Given the description of an element on the screen output the (x, y) to click on. 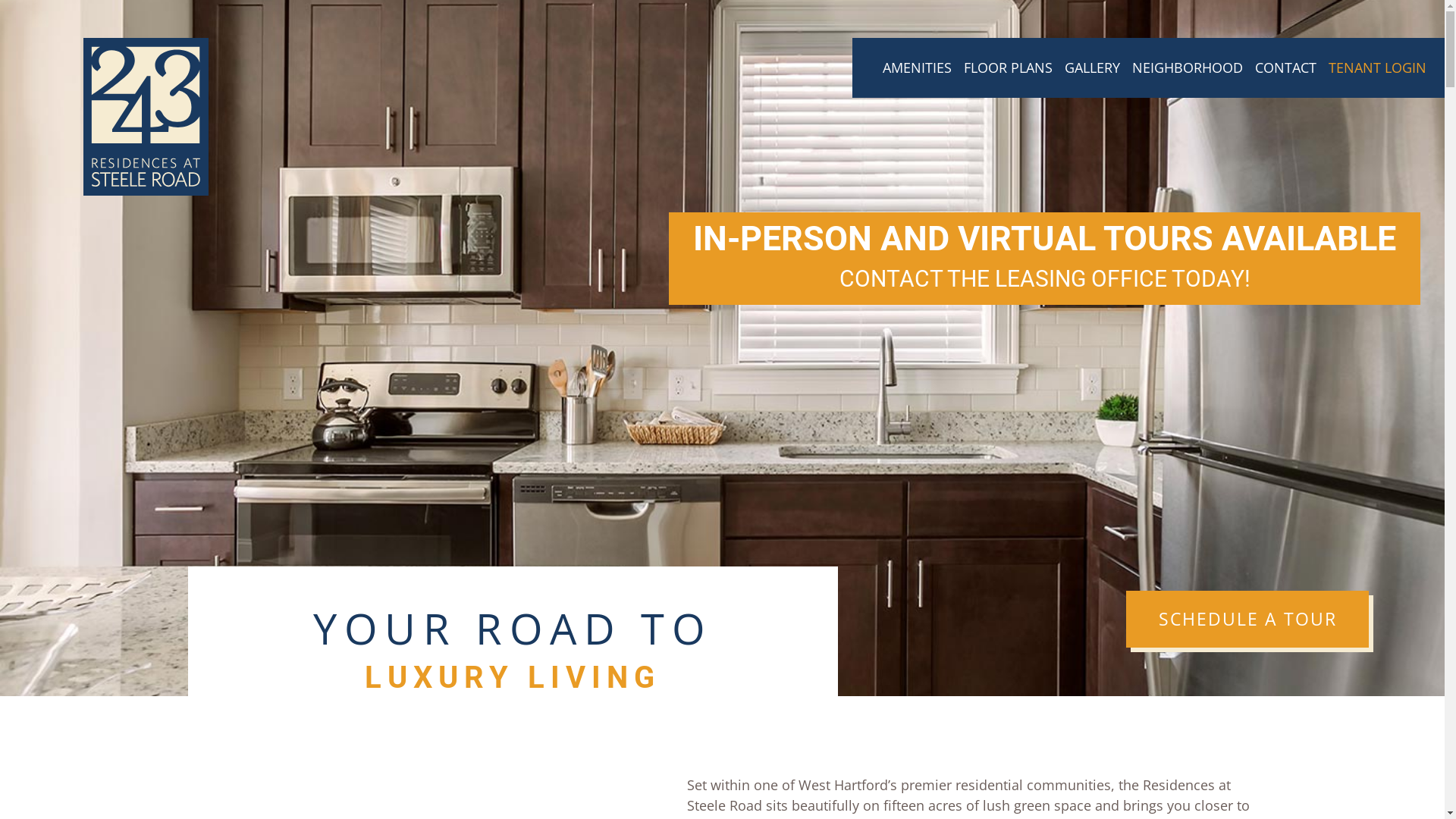
NEIGHBORHOOD
(CURRENT) Element type: text (1187, 67)
TENANT LOGIN
(CURRENT) Element type: text (1377, 67)
CONTACT
(CURRENT) Element type: text (1285, 67)
FLOOR PLANS
(CURRENT) Element type: text (1007, 67)
AMENITIES
(CURRENT) Element type: text (916, 67)
(CURRENT) Element type: text (870, 57)
GALLERY
(CURRENT) Element type: text (1092, 67)
